Given the description of an element on the screen output the (x, y) to click on. 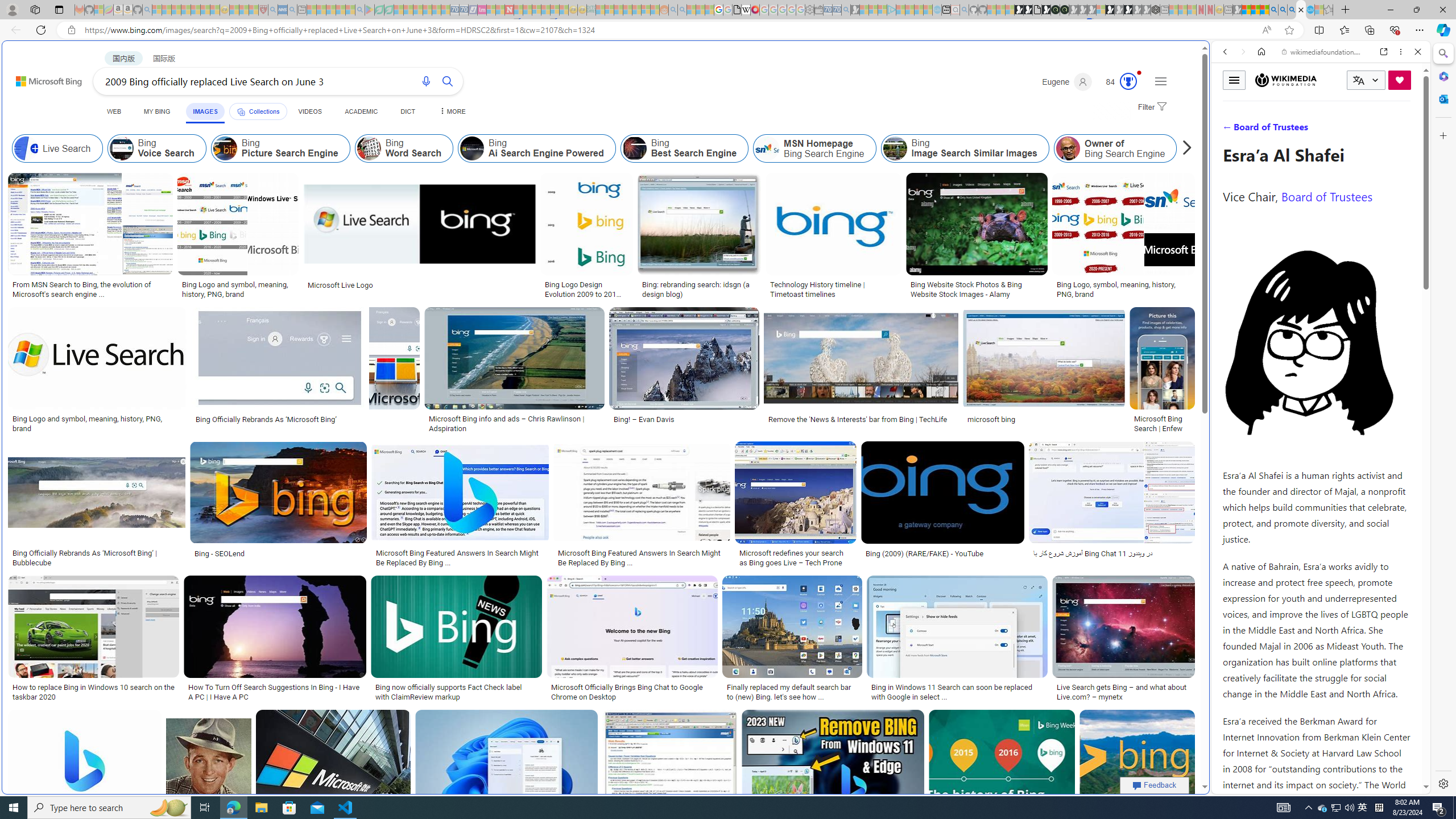
Settings and quick links (1160, 80)
Search Filter, WEB (1230, 129)
Home | Sky Blue Bikes - Sky Blue Bikes - Sleeping (936, 9)
Bing Image Search Similar Images (964, 148)
Remove the 'News & Interests' bar from Bing | TechLife (860, 419)
